Given the description of an element on the screen output the (x, y) to click on. 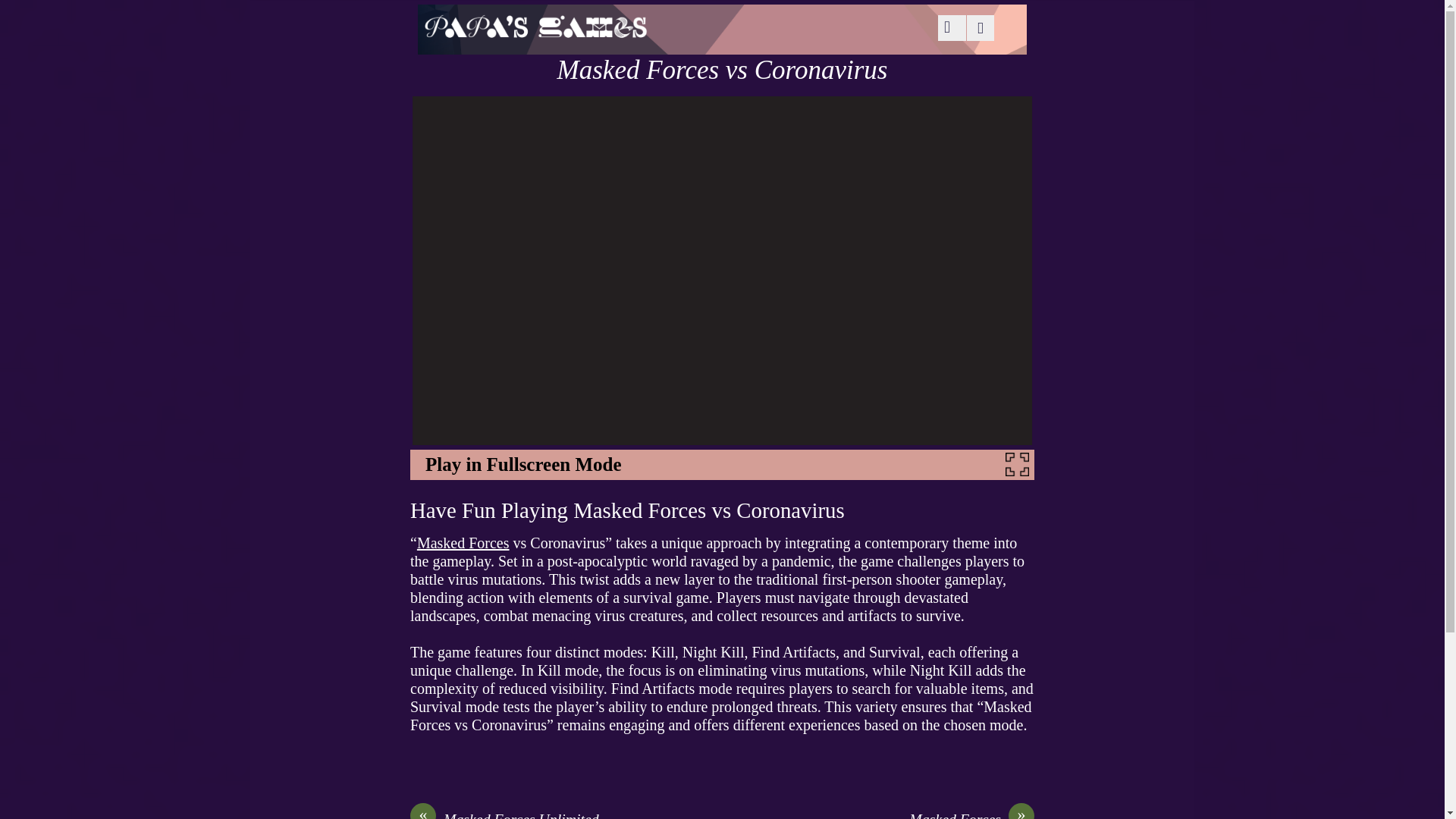
Papa's Games (535, 30)
Masked Forces (462, 542)
Search (948, 27)
3rd party ad content (1326, 98)
3rd party ad content (117, 98)
